Given the description of an element on the screen output the (x, y) to click on. 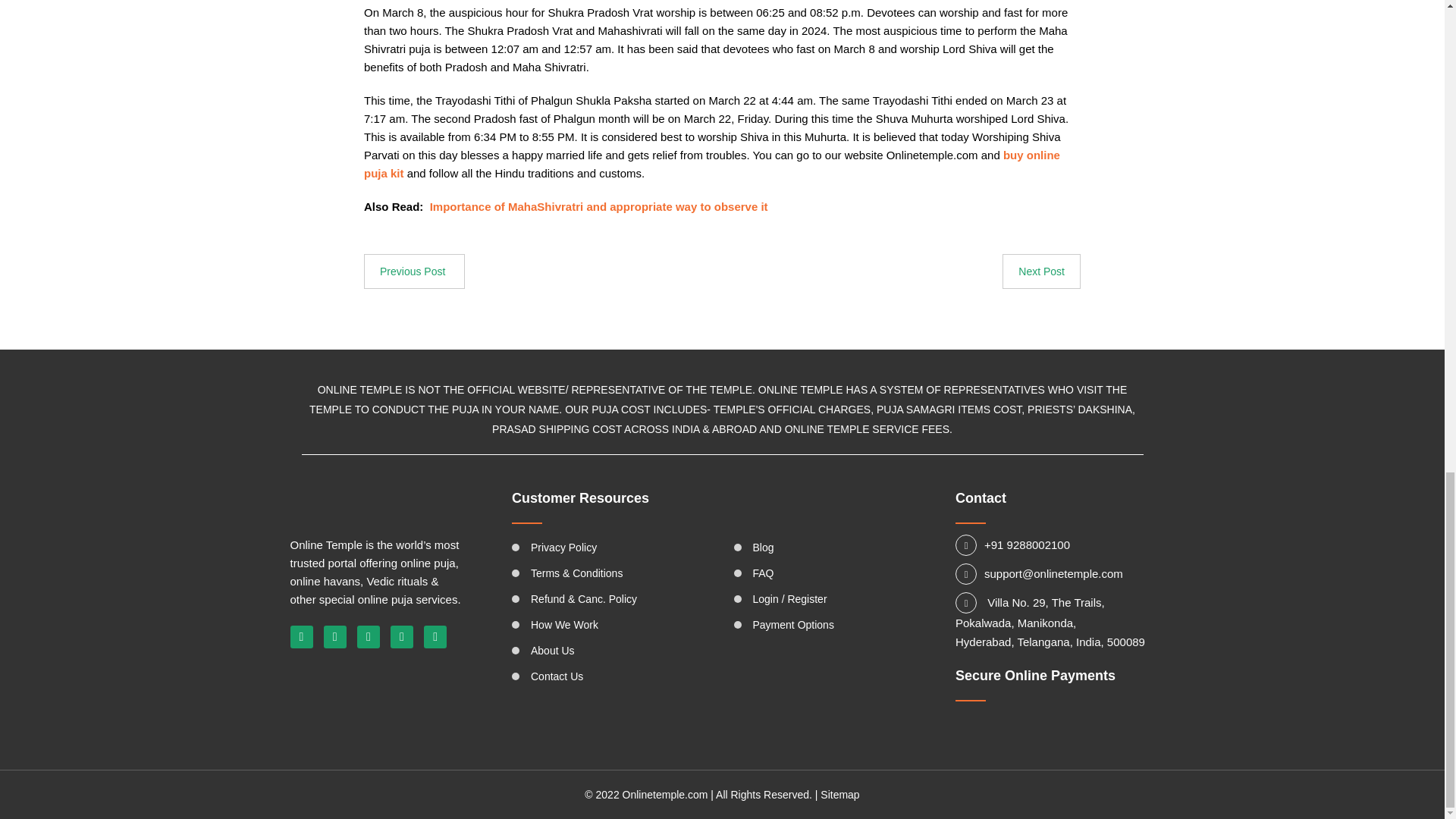
Next Post (1041, 271)
About Us (553, 650)
Contact Us (557, 676)
Onlinetemple.com (665, 794)
Sitemap (840, 794)
Privacy Policy (563, 547)
How We Work (564, 624)
Payment Options (792, 624)
Previous Post (414, 271)
